Given the description of an element on the screen output the (x, y) to click on. 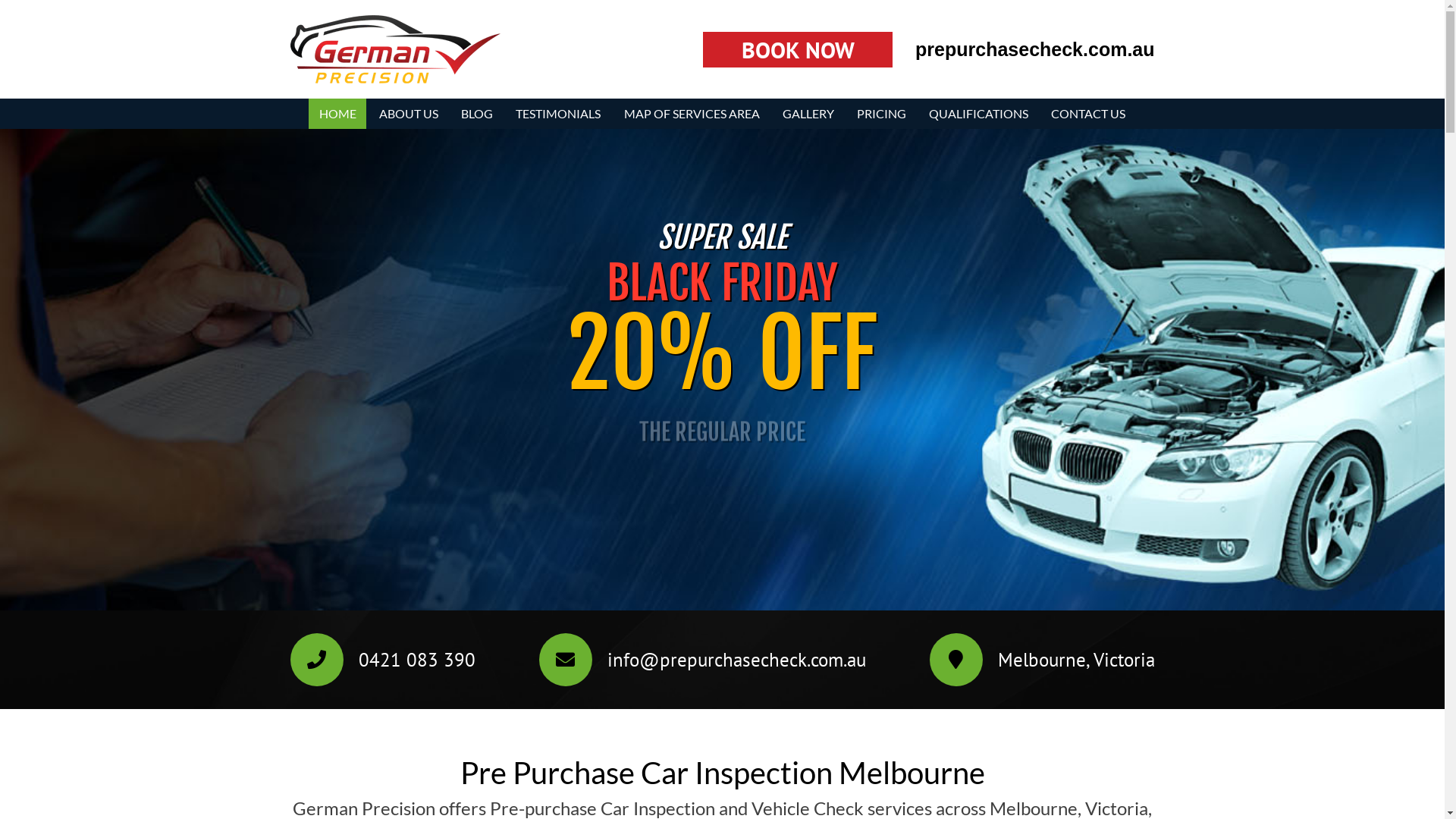
info@prepurchasecheck.com.au Element type: text (735, 659)
PRICING Element type: text (881, 113)
prepurchasecheck.com.au Element type: text (1034, 48)
BOOK NOW Element type: text (797, 49)
BLOG Element type: text (477, 113)
CONTACT US Element type: text (1088, 113)
GALLERY Element type: text (807, 113)
ABOUT US Element type: text (408, 113)
MAP OF SERVICES AREA Element type: text (691, 113)
QUALIFICATIONS Element type: text (978, 113)
0421 083 390 Element type: text (415, 659)
Melbourne, Victoria Element type: text (1075, 659)
TESTIMONIALS Element type: text (558, 113)
German Precision Pre Purchase Car Inspection Element type: text (385, 105)
HOME Element type: text (337, 113)
